Given the description of an element on the screen output the (x, y) to click on. 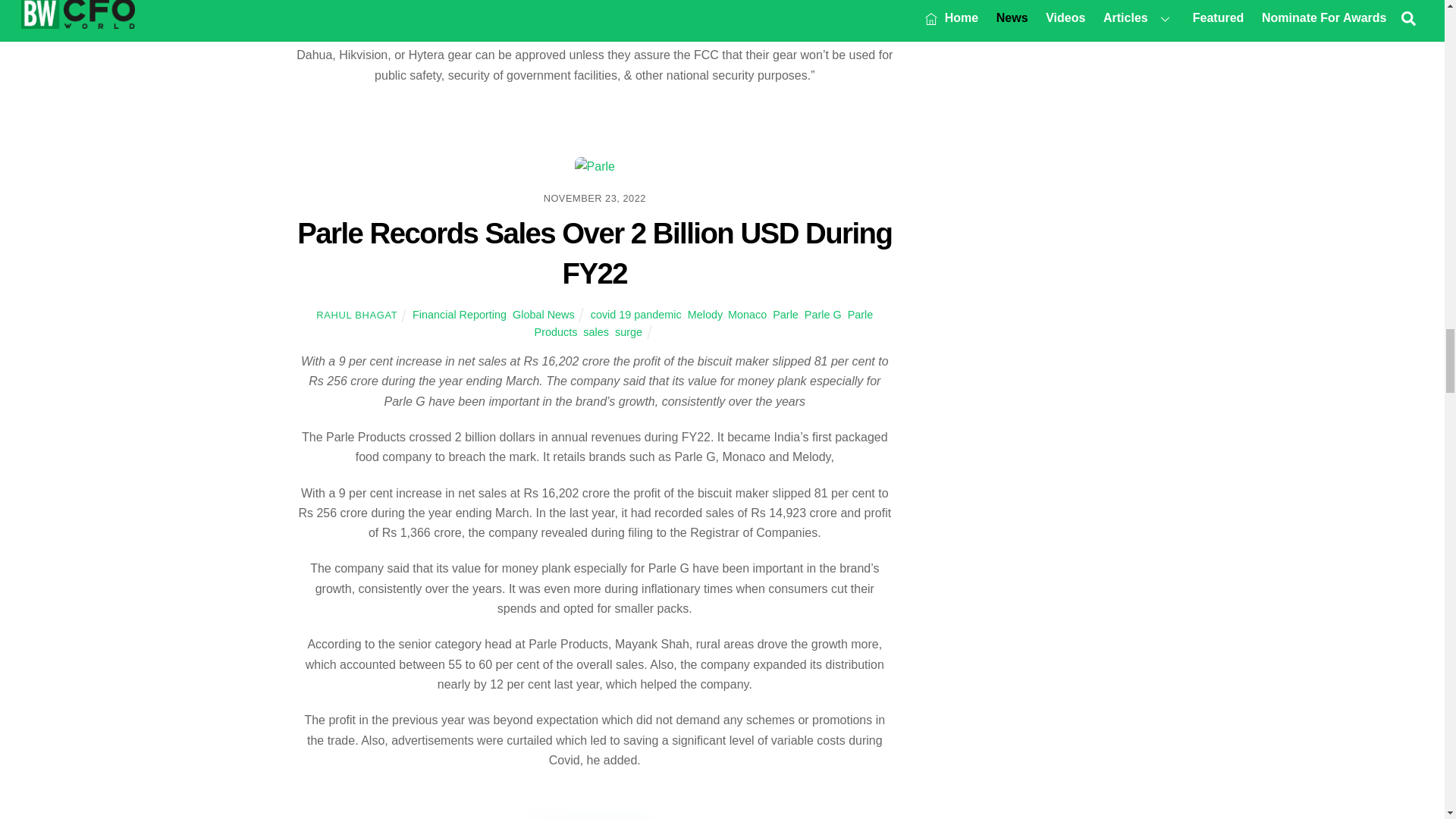
Parle (594, 166)
